Given the description of an element on the screen output the (x, y) to click on. 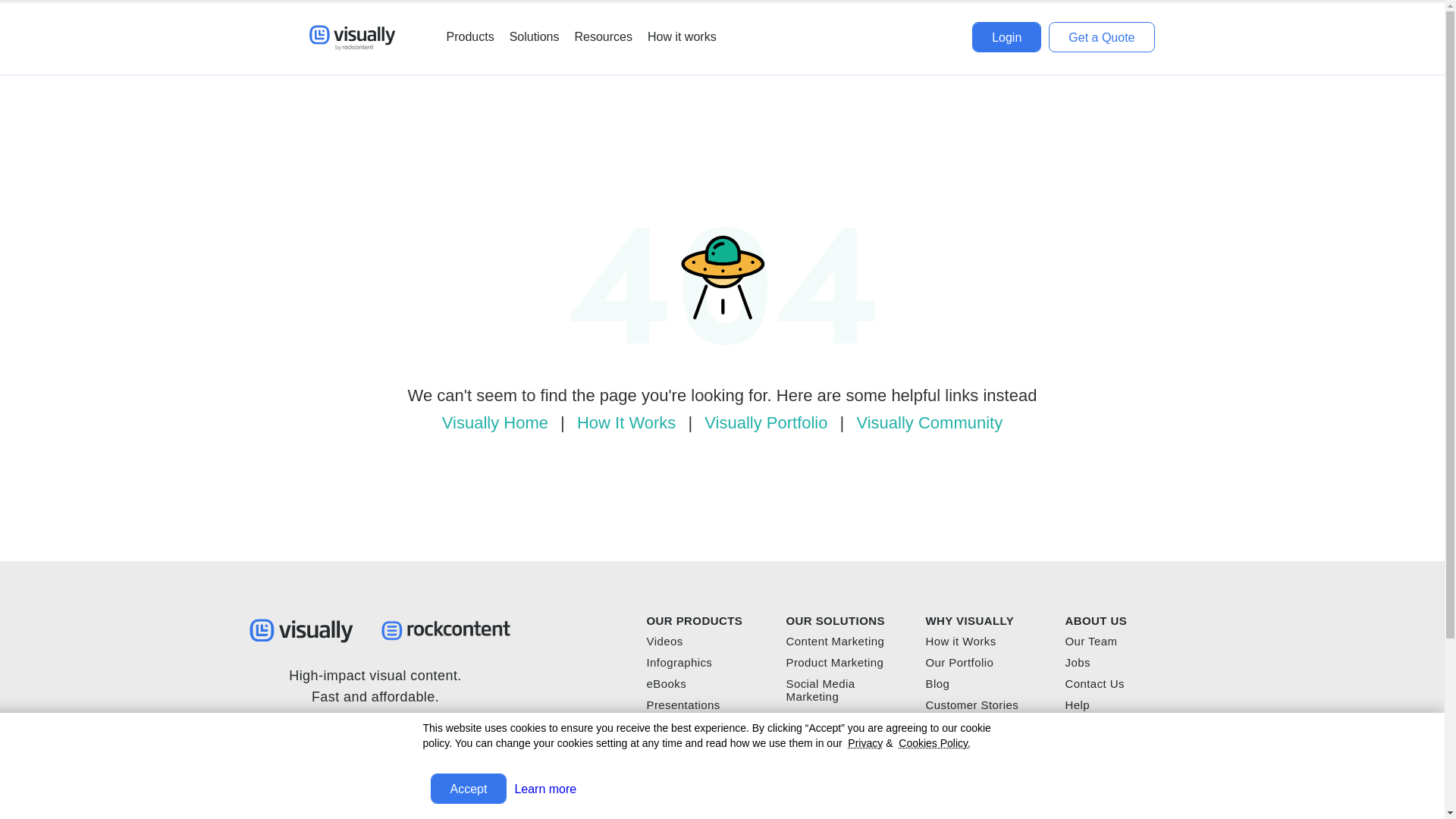
Visually Community (927, 422)
Presentations (682, 704)
Visually Portfolio (763, 422)
eBooks (665, 683)
Get a Quote (1101, 37)
Interactives (676, 747)
Visually Home (494, 422)
Photography (680, 725)
Videos (664, 640)
Login (1006, 37)
